Given the description of an element on the screen output the (x, y) to click on. 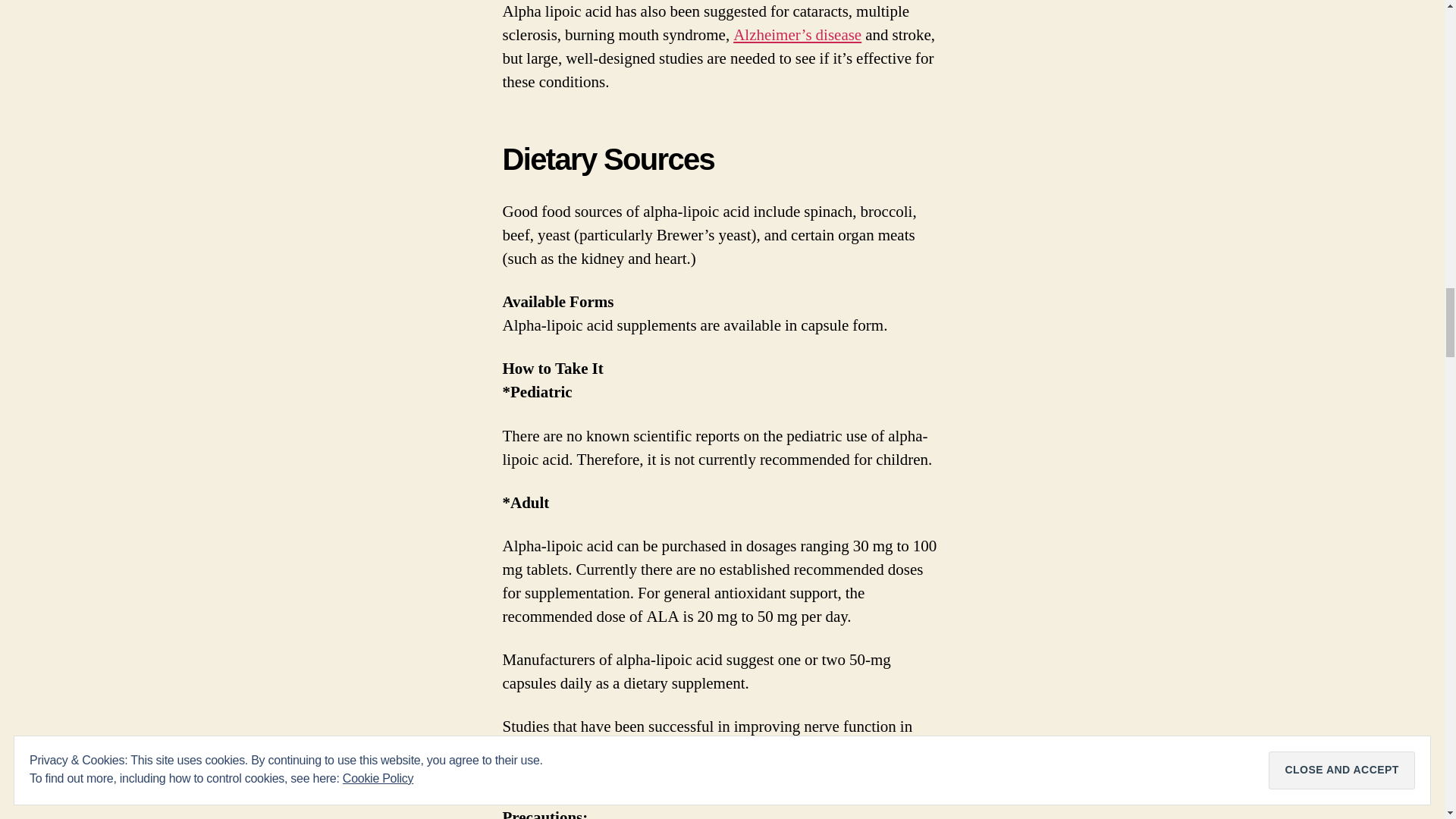
Alzheimer's disease (797, 35)
